Given the description of an element on the screen output the (x, y) to click on. 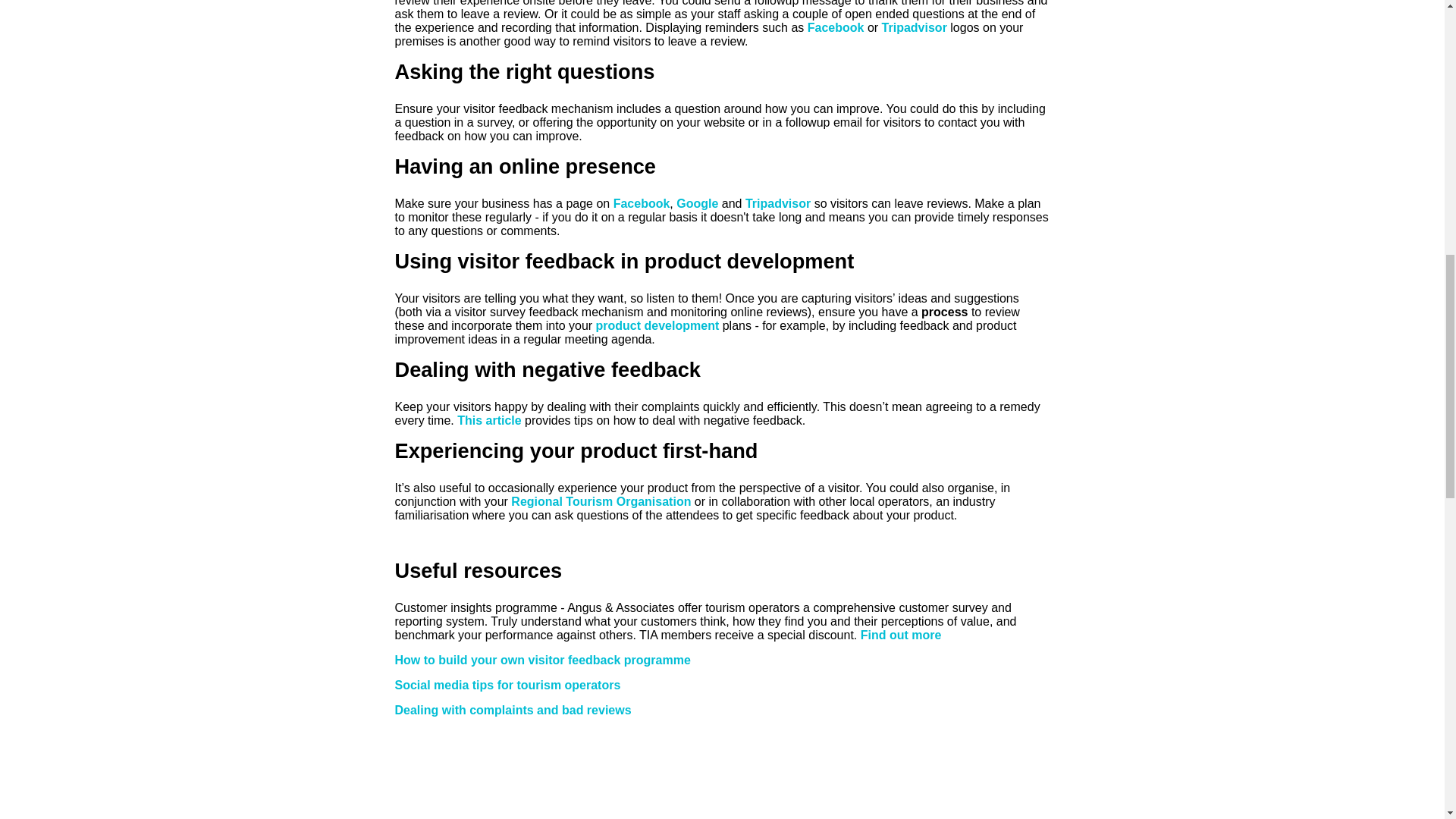
Facebook reviews (640, 203)
Google (697, 203)
Facebook (640, 203)
Find out more (901, 634)
Social media tips for tourism operators (507, 684)
Facebook (836, 27)
Dealing with complaints and bad reviews (512, 709)
This article (489, 420)
Tripadvisor (914, 27)
Facebook reviews (836, 27)
Regional Tourism Organisation (600, 501)
product development (657, 325)
Tripadvisor (777, 203)
How to build your own visitor feedback programme (542, 659)
